Given the description of an element on the screen output the (x, y) to click on. 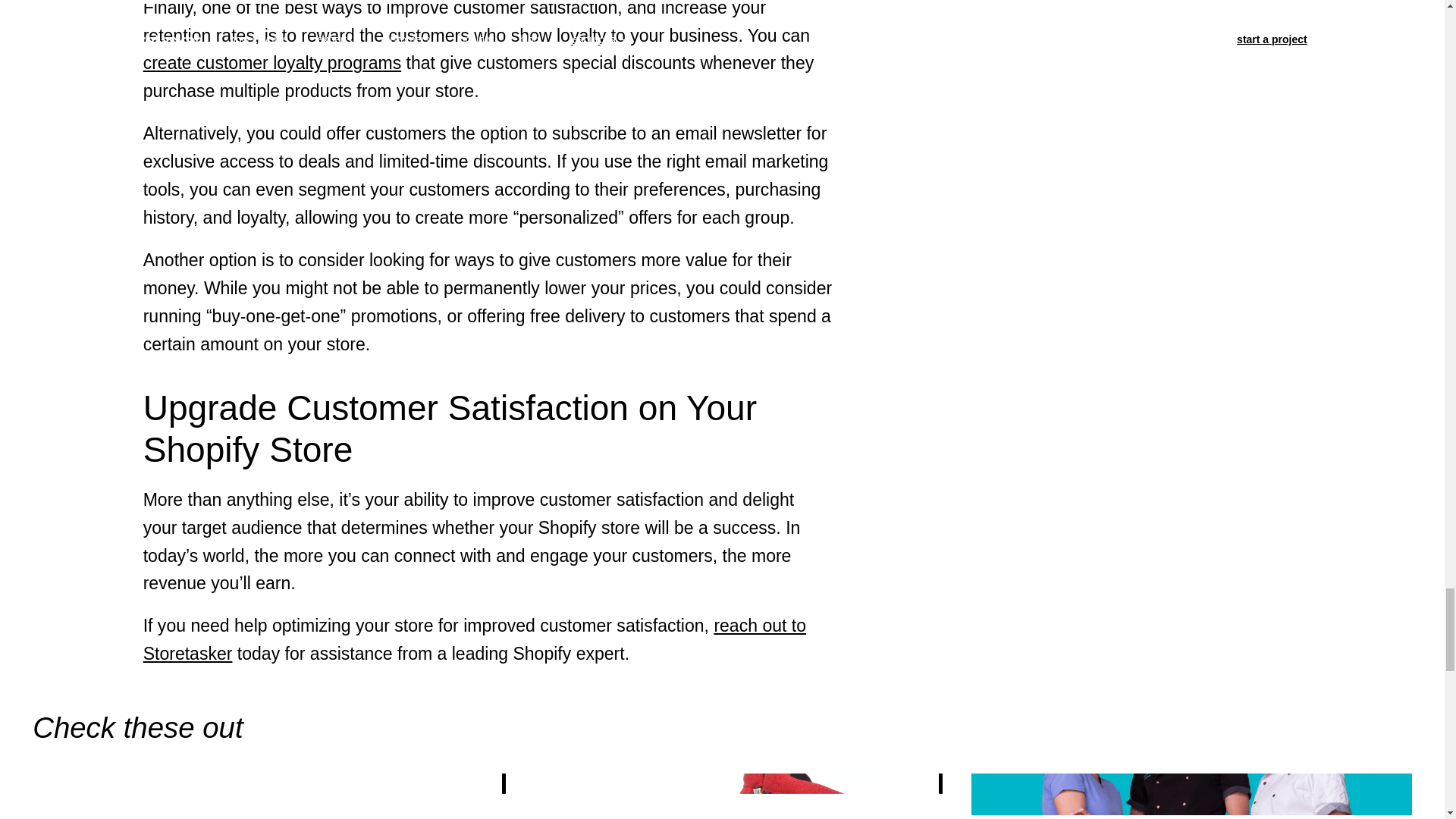
reach out to Storetasker (474, 639)
create customer loyalty programs (271, 62)
